Given the description of an element on the screen output the (x, y) to click on. 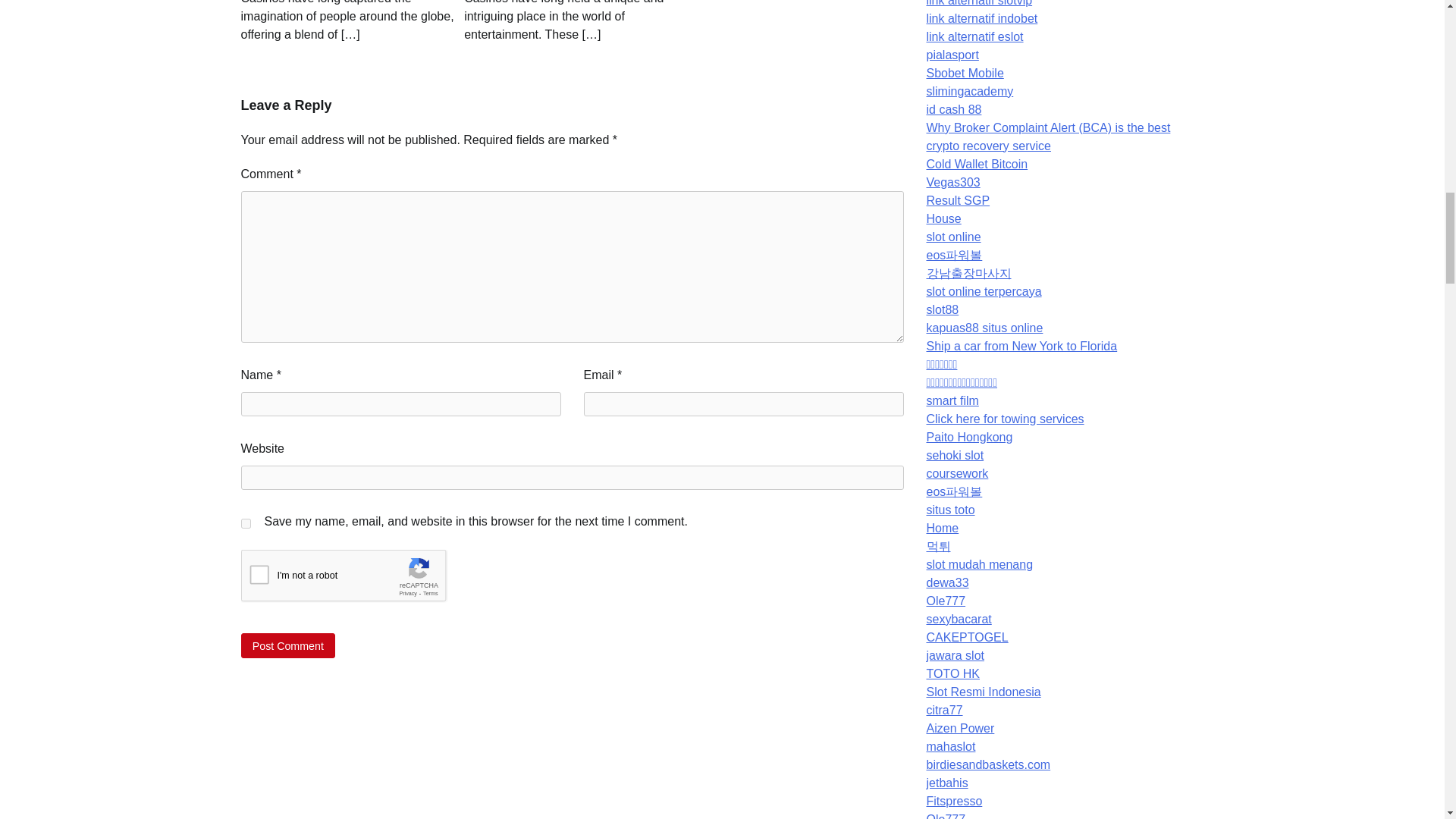
Post Comment (288, 645)
yes (245, 523)
reCAPTCHA (356, 579)
jetbahis (947, 782)
Post Comment (288, 645)
